Given the description of an element on the screen output the (x, y) to click on. 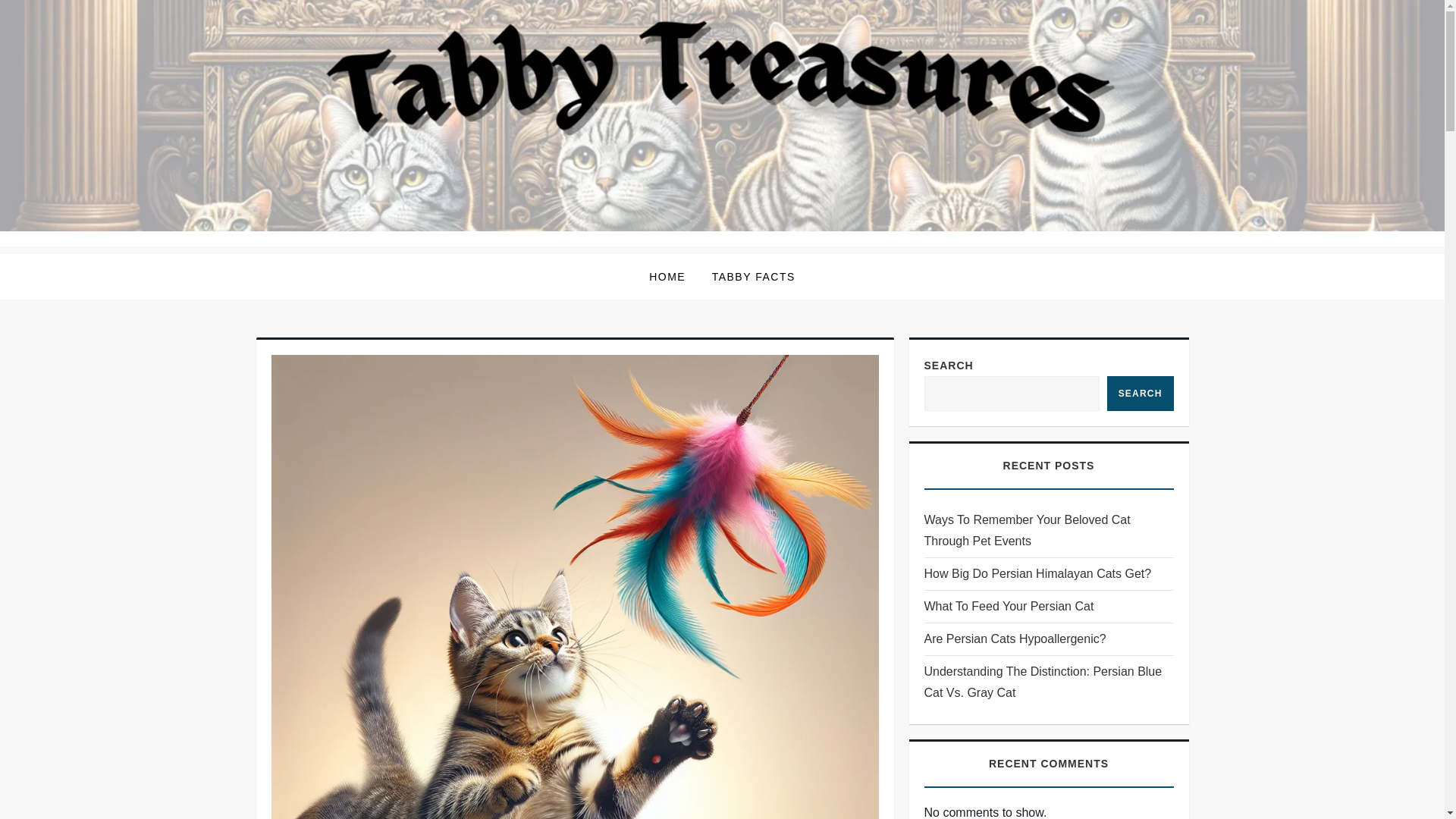
SEARCH (1139, 393)
HOME (667, 276)
Tabby Treasures (368, 256)
Ways To Remember Your Beloved Cat Through Pet Events (1048, 530)
TABBY FACTS (753, 276)
